Given the description of an element on the screen output the (x, y) to click on. 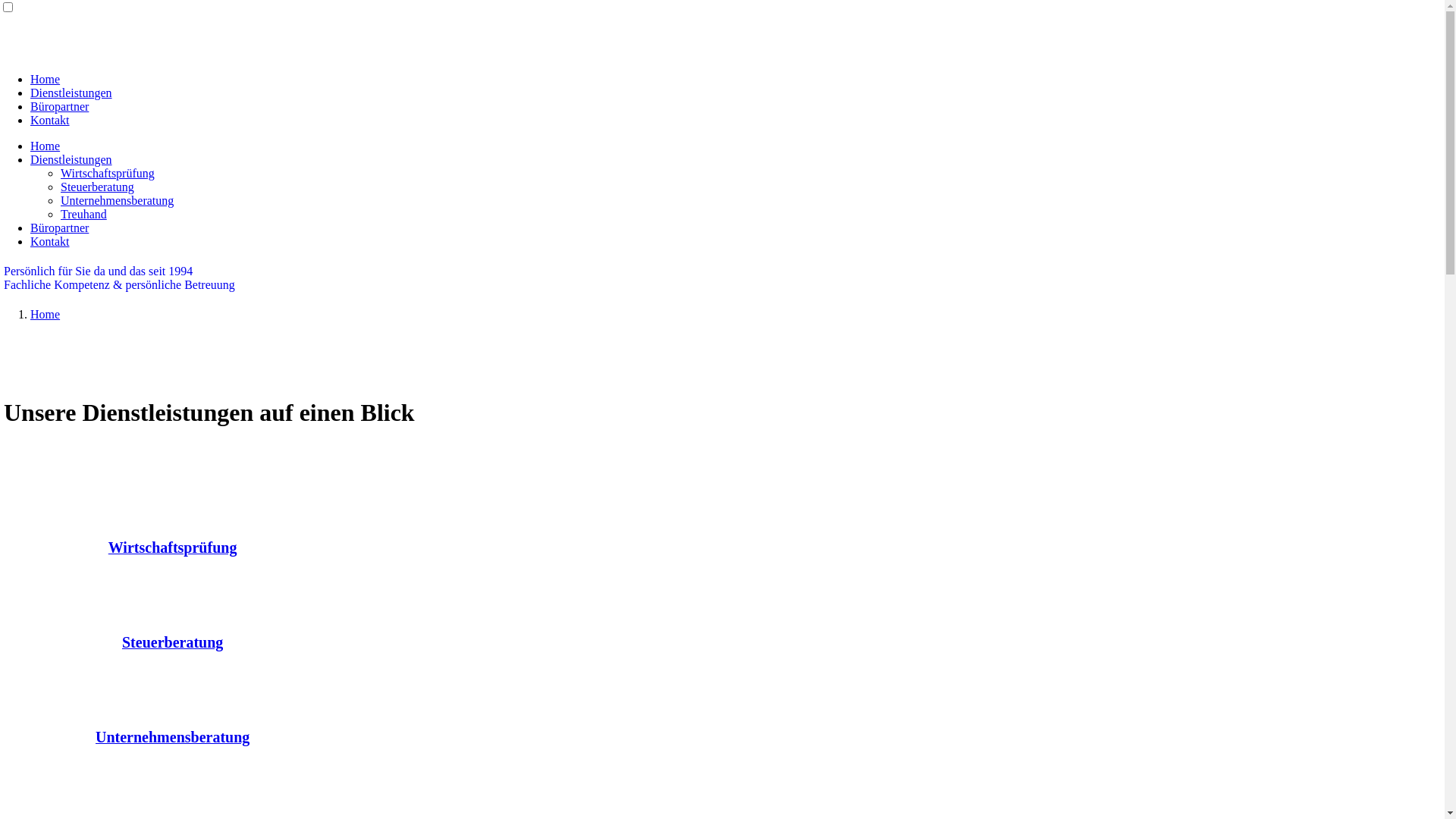
Dienstleistungen Element type: text (71, 159)
Unternehmensberatung Element type: text (172, 737)
Home Element type: text (44, 313)
Home Element type: text (44, 145)
Dienstleistungen Element type: text (71, 92)
Treuhand Element type: text (83, 213)
Steuerberatung Element type: text (172, 643)
Kontakt Element type: text (49, 241)
Home Element type: text (44, 78)
Unternehmensberatung Element type: text (116, 200)
Steuerberatung Element type: text (97, 186)
Kontakt Element type: text (49, 119)
